Given the description of an element on the screen output the (x, y) to click on. 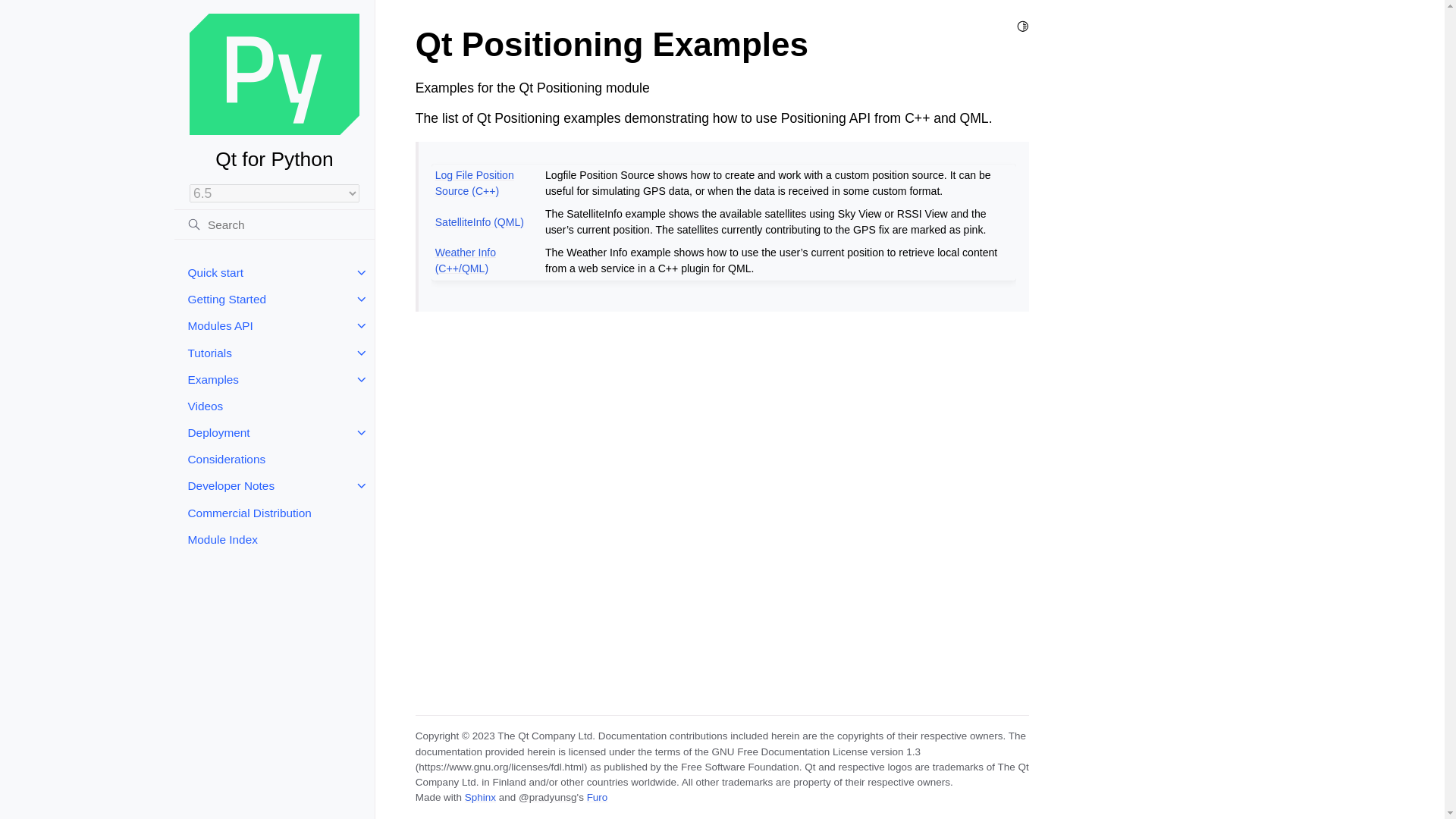
Qt for Python (274, 92)
Quick start (274, 272)
Getting Started (274, 298)
Modules API (274, 325)
